Given the description of an element on the screen output the (x, y) to click on. 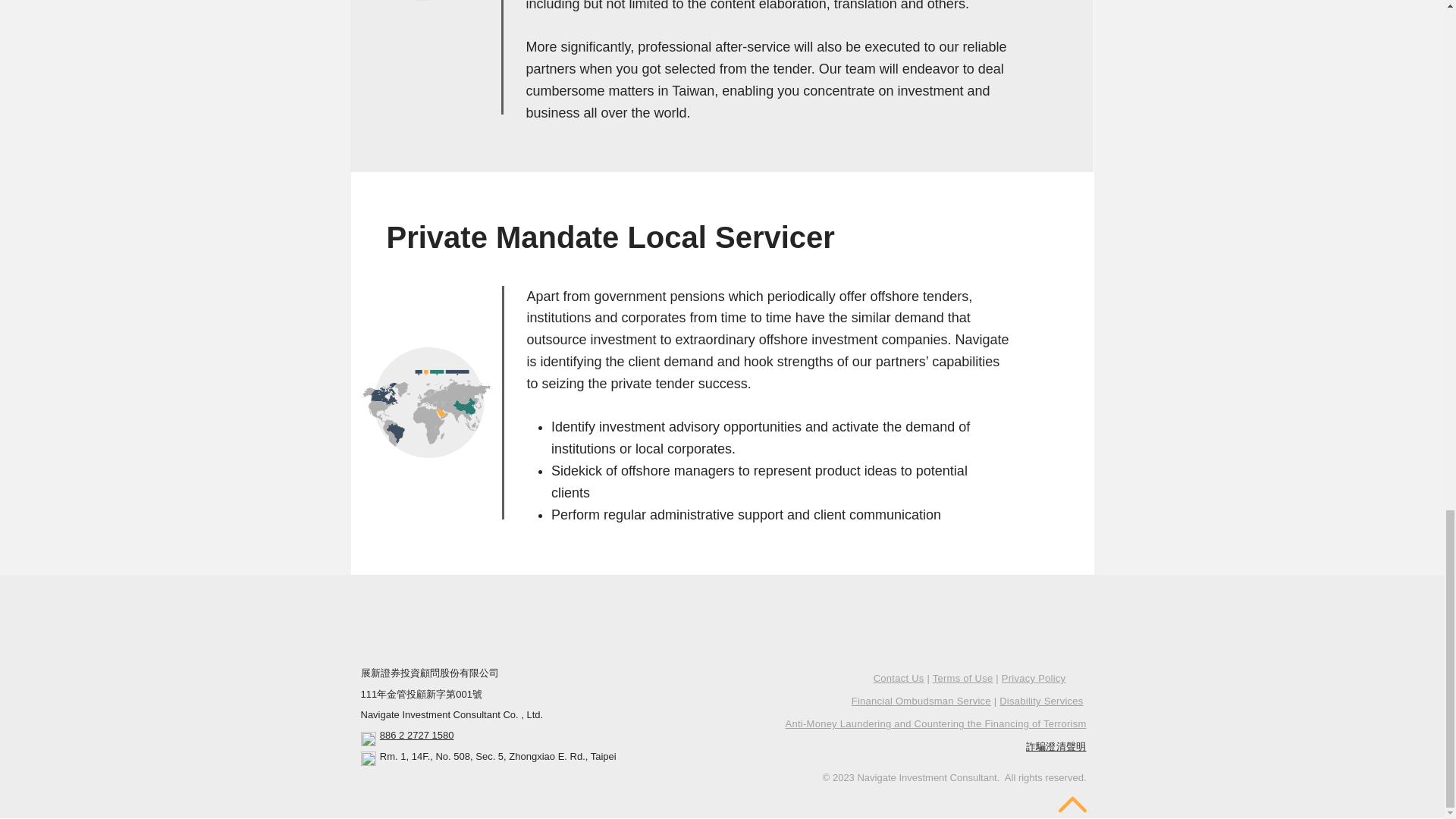
Financial Ombudsman Service (921, 700)
Terms of Use (962, 677)
Privacy Policy (1033, 677)
886 2 2727 1580 (417, 735)
Disability Services (1040, 700)
Contact Us (898, 677)
